Given the description of an element on the screen output the (x, y) to click on. 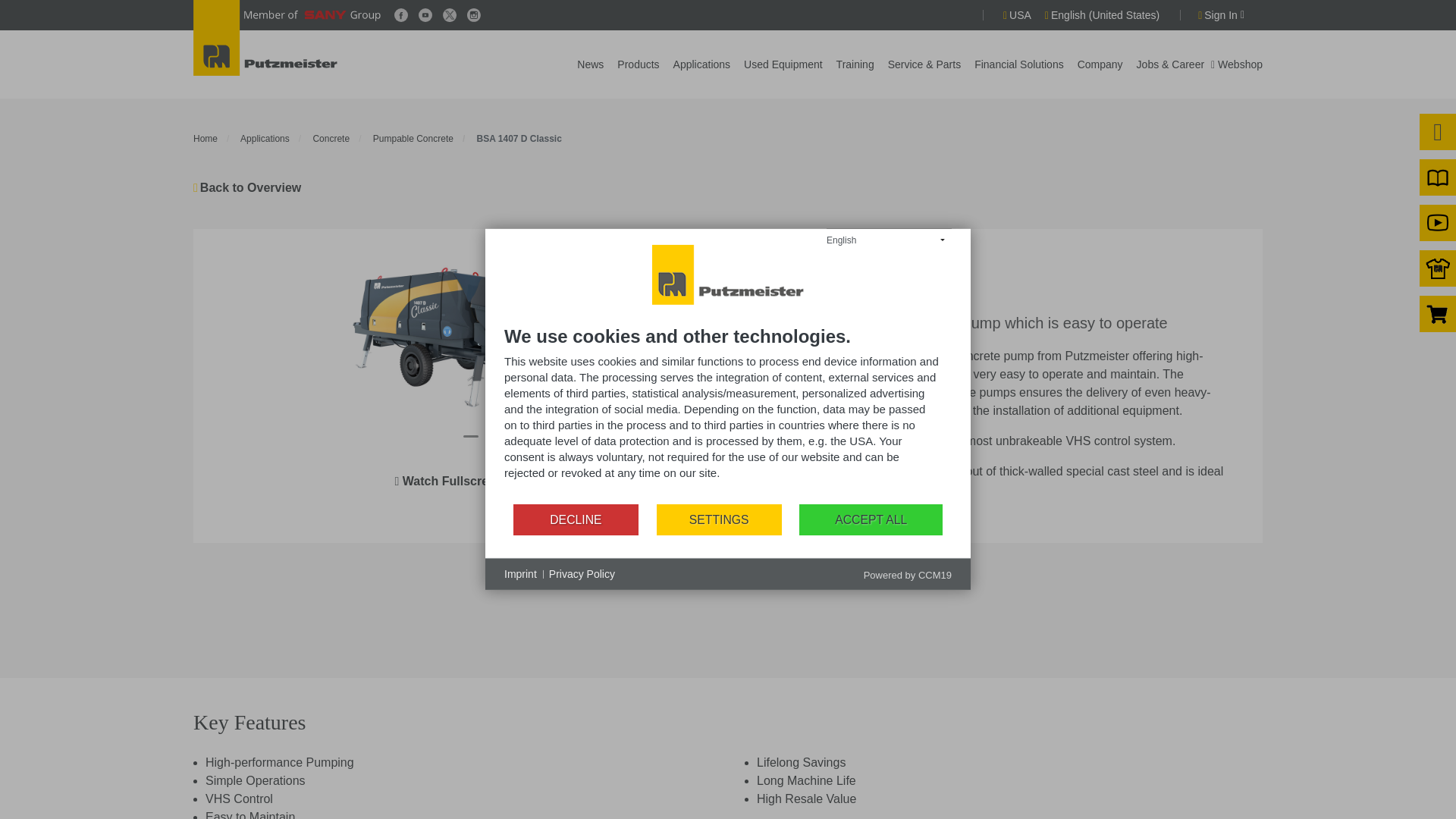
Applications (701, 63)
Pumpable Concrete (412, 138)
Webshop (1236, 64)
USA (1016, 14)
Concrete (331, 138)
Home (204, 138)
News (590, 63)
Company (1099, 63)
Training (855, 63)
Products (638, 63)
Applications (264, 138)
Used Equipment (783, 63)
Financial Solutions (1019, 63)
Sign In (1220, 14)
